Given the description of an element on the screen output the (x, y) to click on. 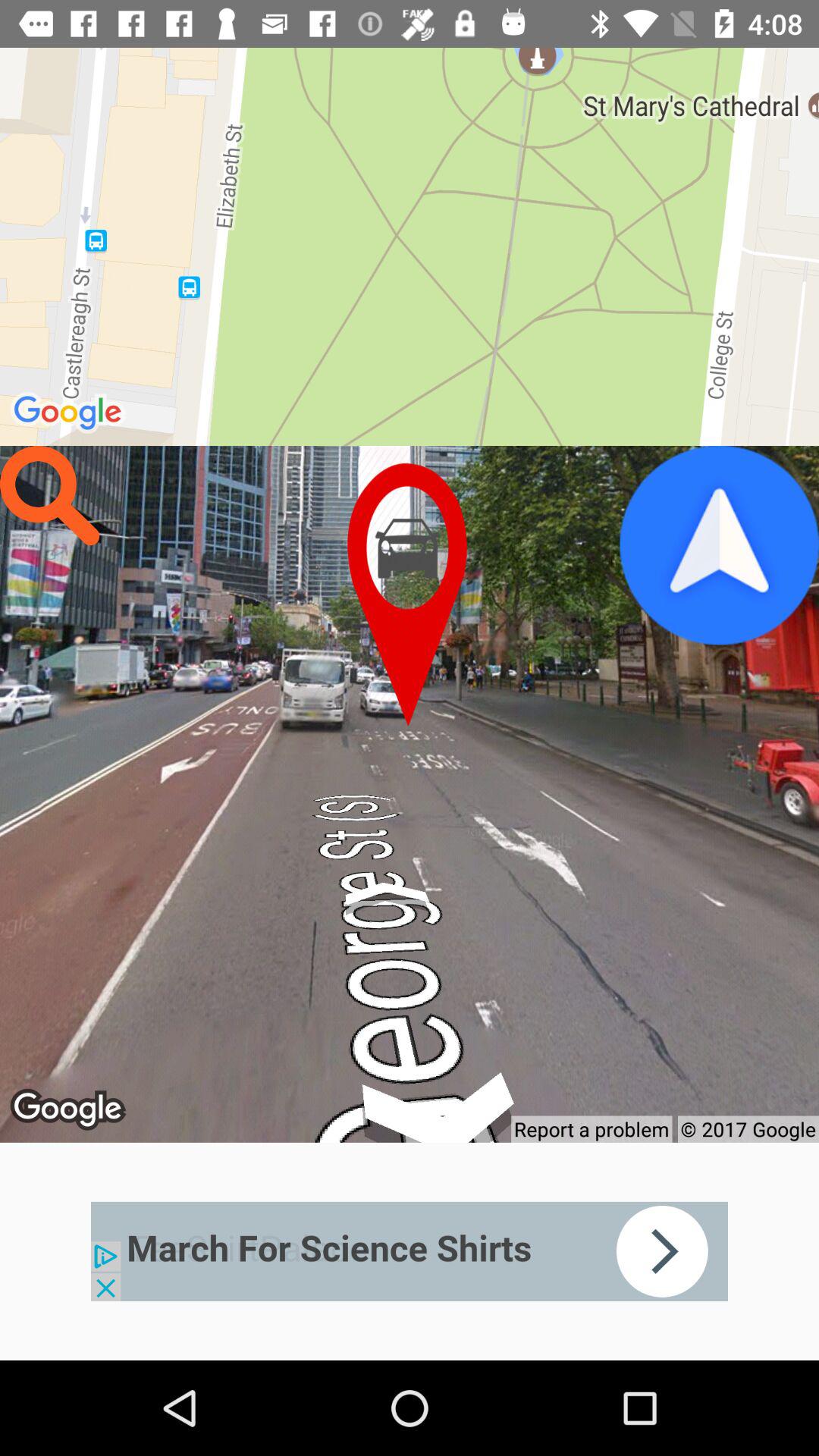
go to pointer (409, 594)
